Given the description of an element on the screen output the (x, y) to click on. 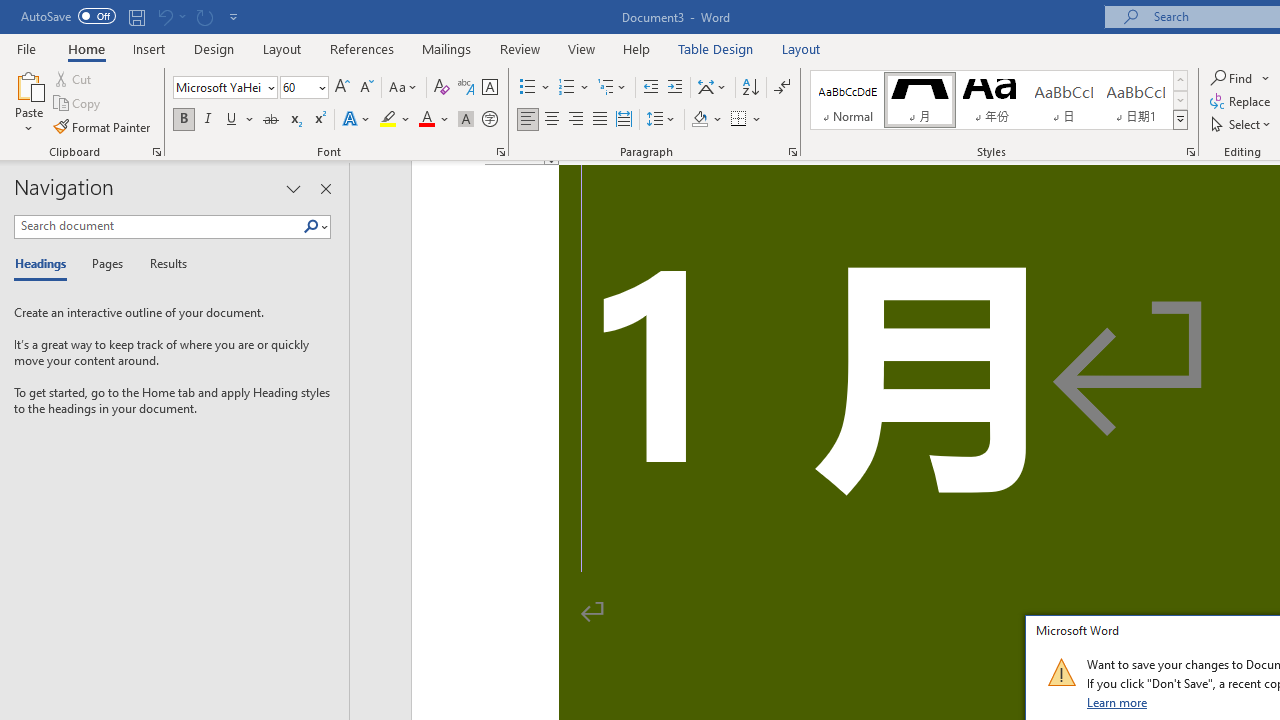
Shading (706, 119)
View (582, 48)
AutoSave (68, 16)
Character Shading (465, 119)
Home (86, 48)
Justify (599, 119)
Font Color RGB(255, 0, 0) (426, 119)
Font... (500, 151)
Insert (149, 48)
Superscript (319, 119)
Underline (232, 119)
Paragraph... (792, 151)
Office Clipboard... (156, 151)
Can't Undo (170, 15)
Format Painter (103, 126)
